Given the description of an element on the screen output the (x, y) to click on. 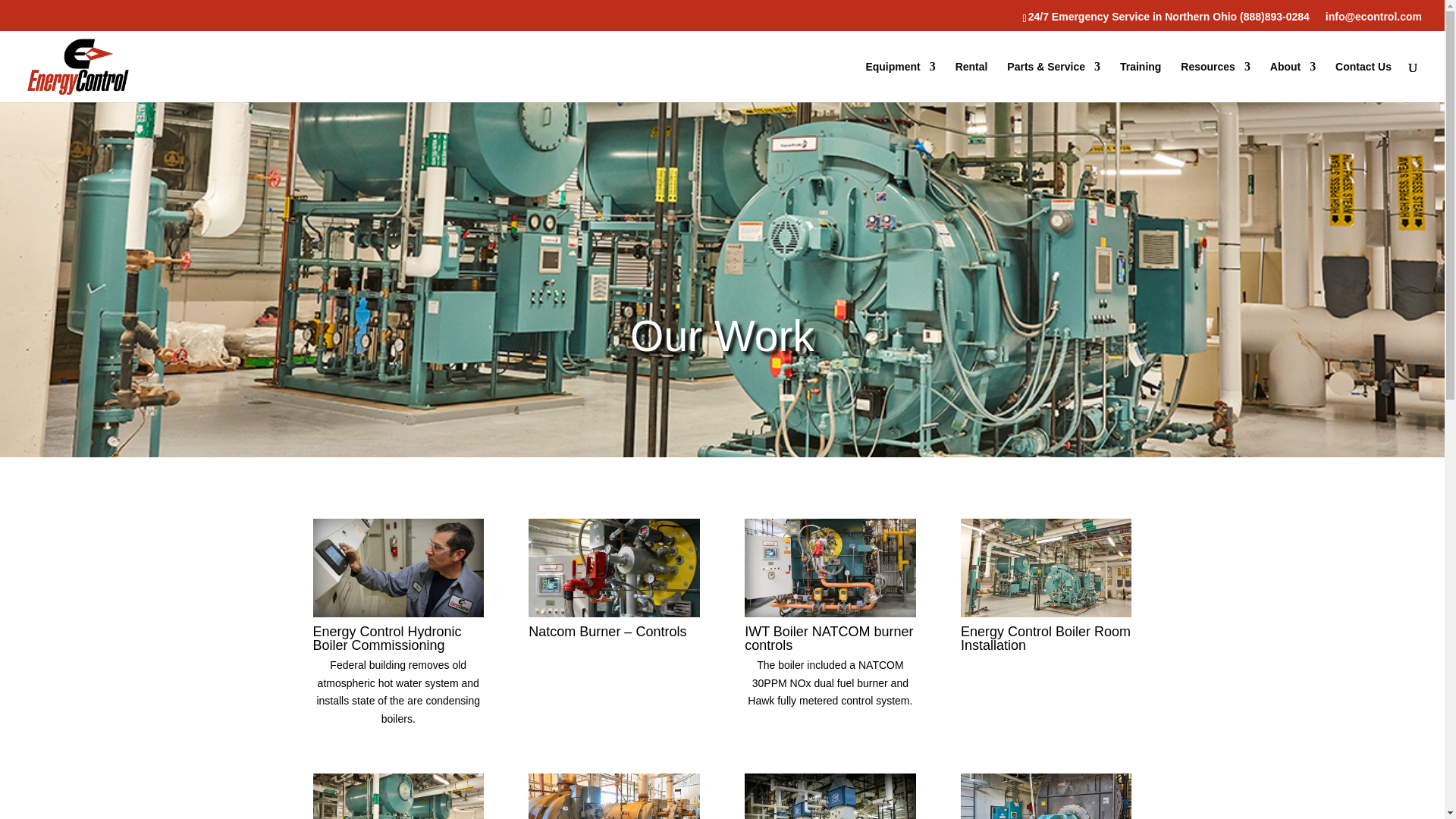
Natcom Burner - Controls (613, 613)
Training (1139, 80)
Contact Us (1363, 80)
Equipment (899, 80)
IWT Boiler NATCOM burner controls (829, 613)
Energy Control Hydronic Boiler Commissioning (398, 613)
Energy Control Boiler Room Installation (1045, 613)
Resources (1215, 80)
About (1292, 80)
